Given the description of an element on the screen output the (x, y) to click on. 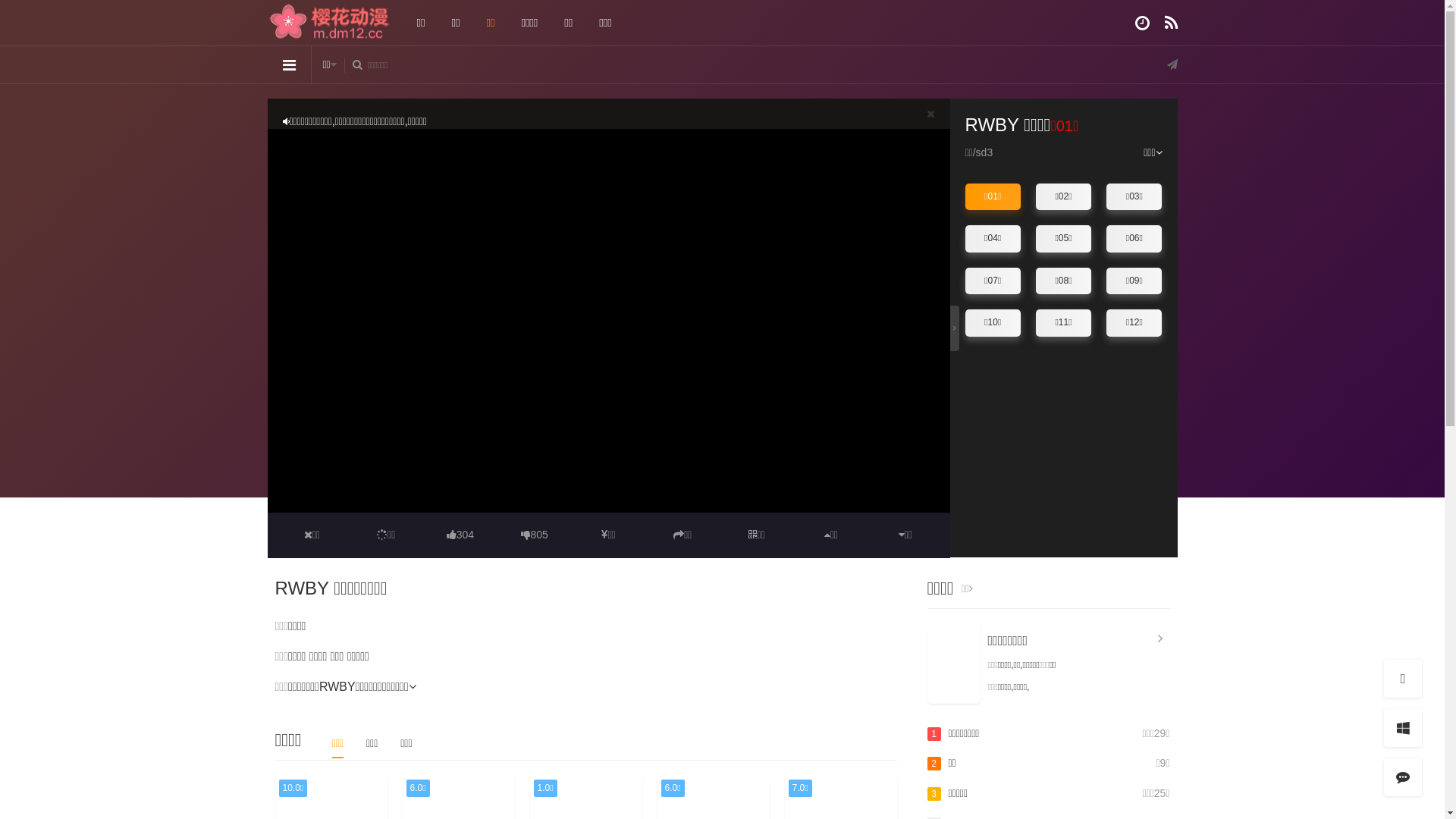
304 Element type: text (459, 534)
805 Element type: text (534, 534)
